Given the description of an element on the screen output the (x, y) to click on. 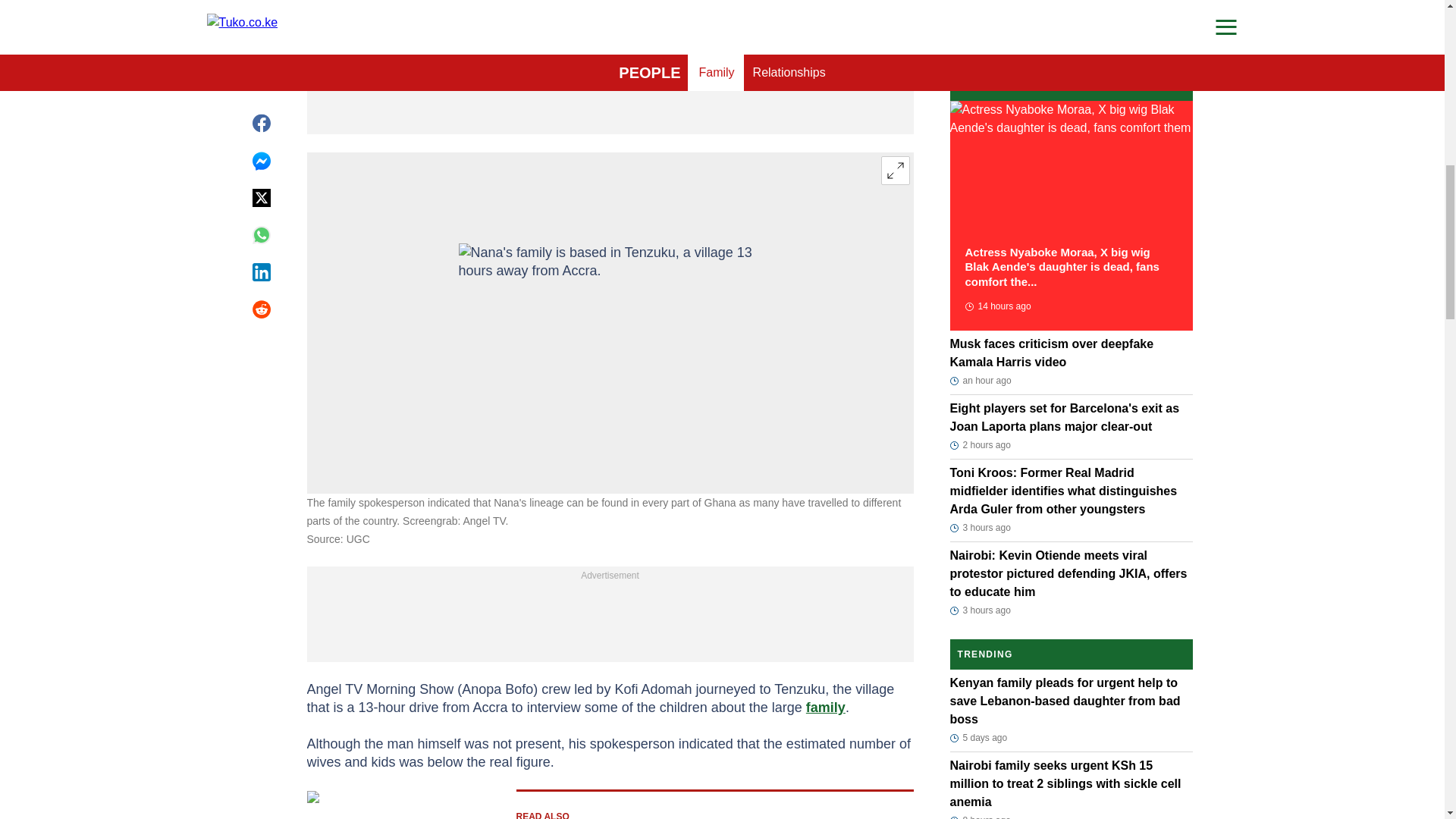
Expand image (895, 170)
